Given the description of an element on the screen output the (x, y) to click on. 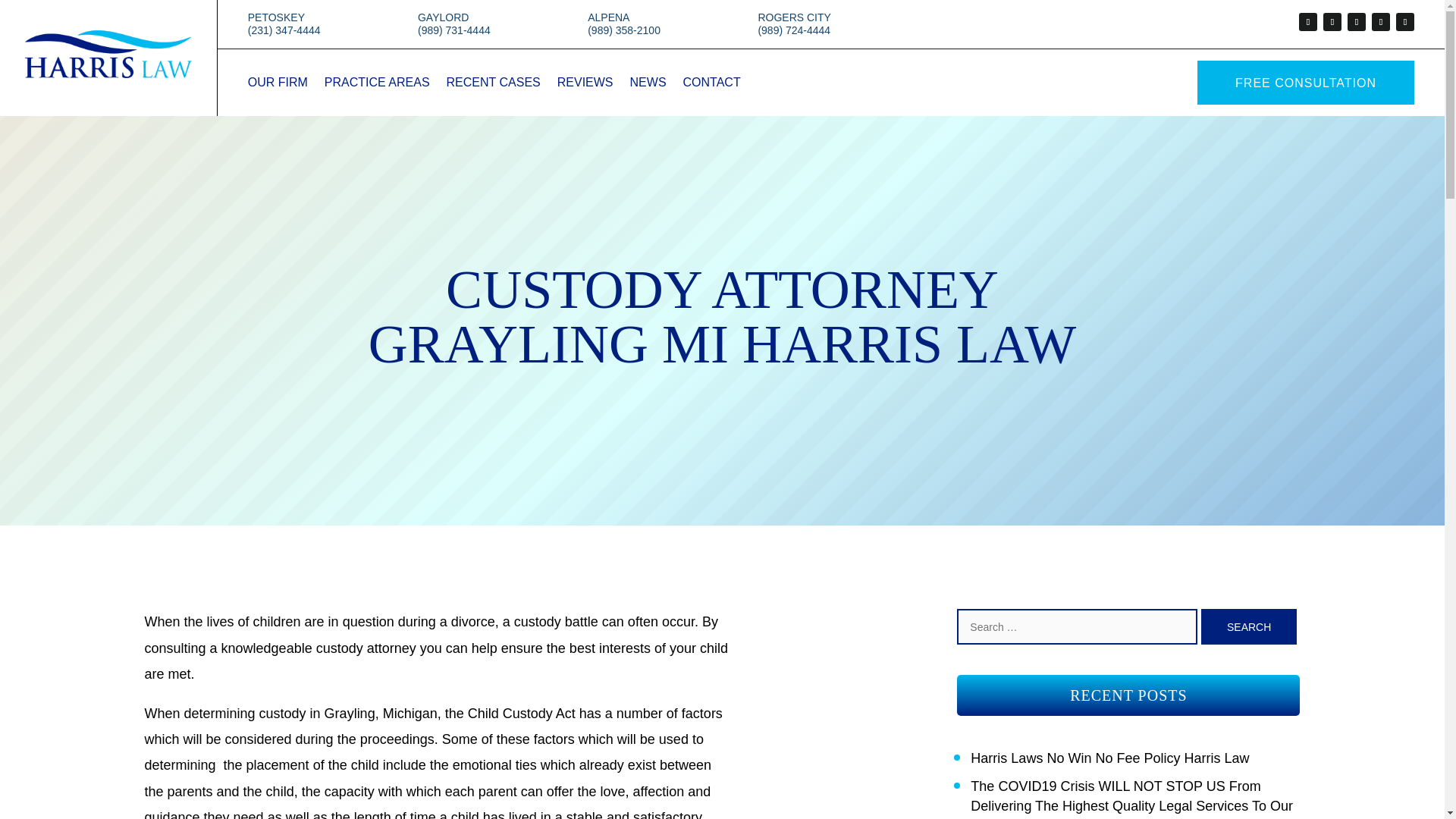
Follow on LinkedIn (1380, 22)
Search (1249, 626)
FREE CONSULTATION (1304, 82)
Follow on X (1331, 22)
Search (1249, 626)
Follow on Youtube (1404, 22)
RECENT CASES (493, 85)
CONTACT (711, 85)
NEWS (648, 85)
d-logo (108, 73)
